Given the description of an element on the screen output the (x, y) to click on. 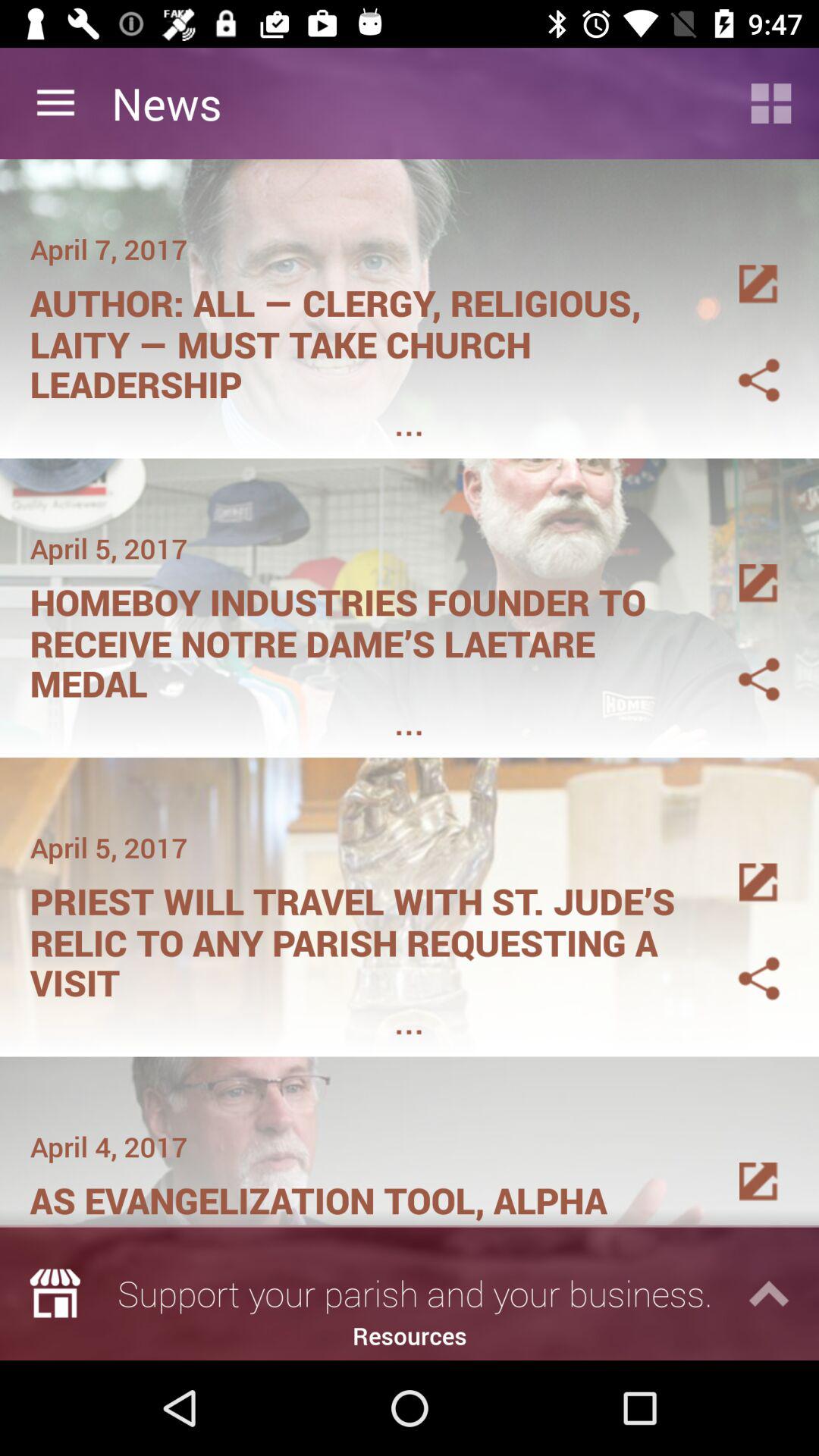
swipe to the homeboy industries founder (361, 638)
